Given the description of an element on the screen output the (x, y) to click on. 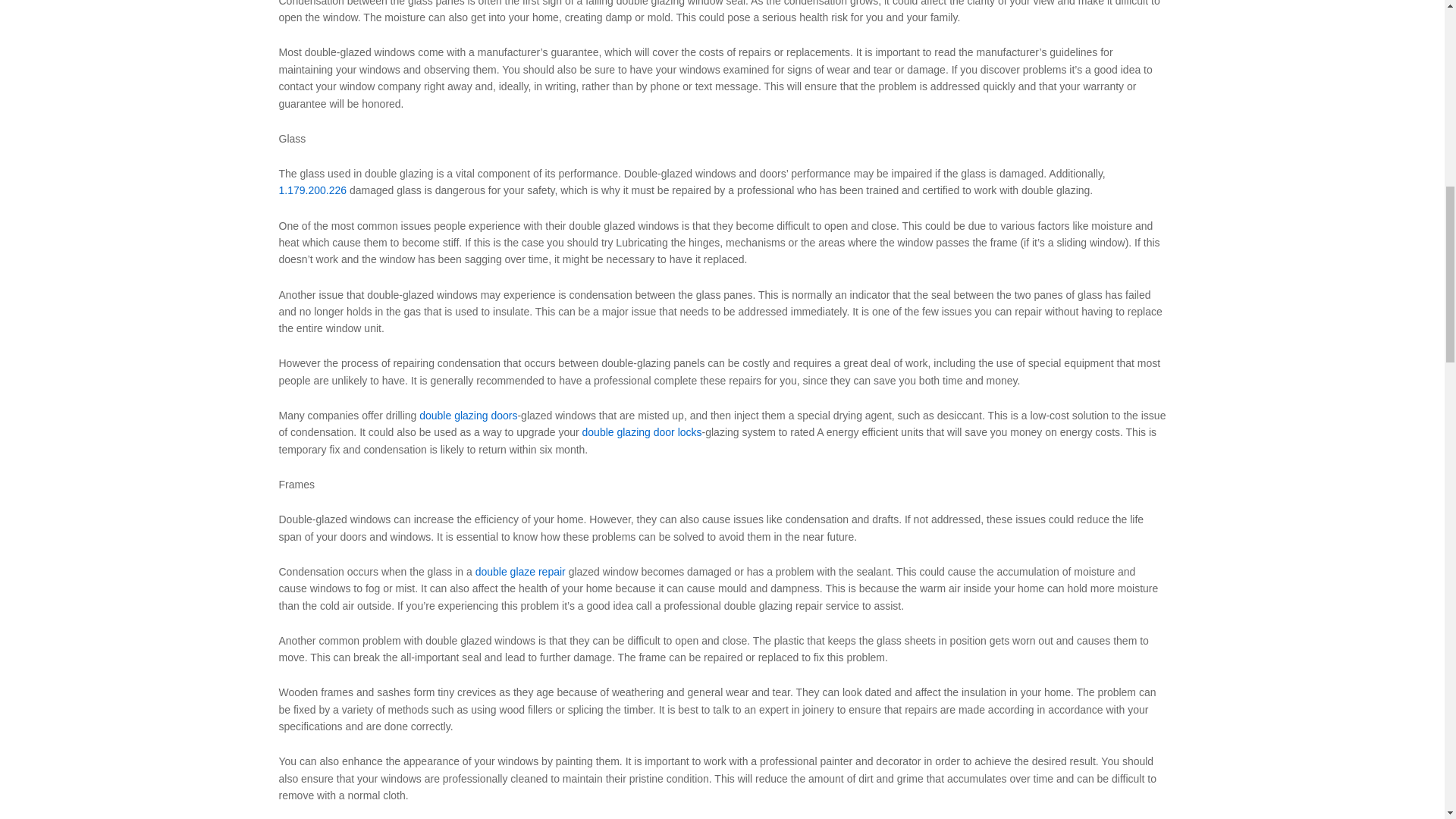
double glaze repair (521, 571)
1.179.200.226 (313, 190)
double glazing door locks (641, 431)
double glazing doors (467, 415)
